Given the description of an element on the screen output the (x, y) to click on. 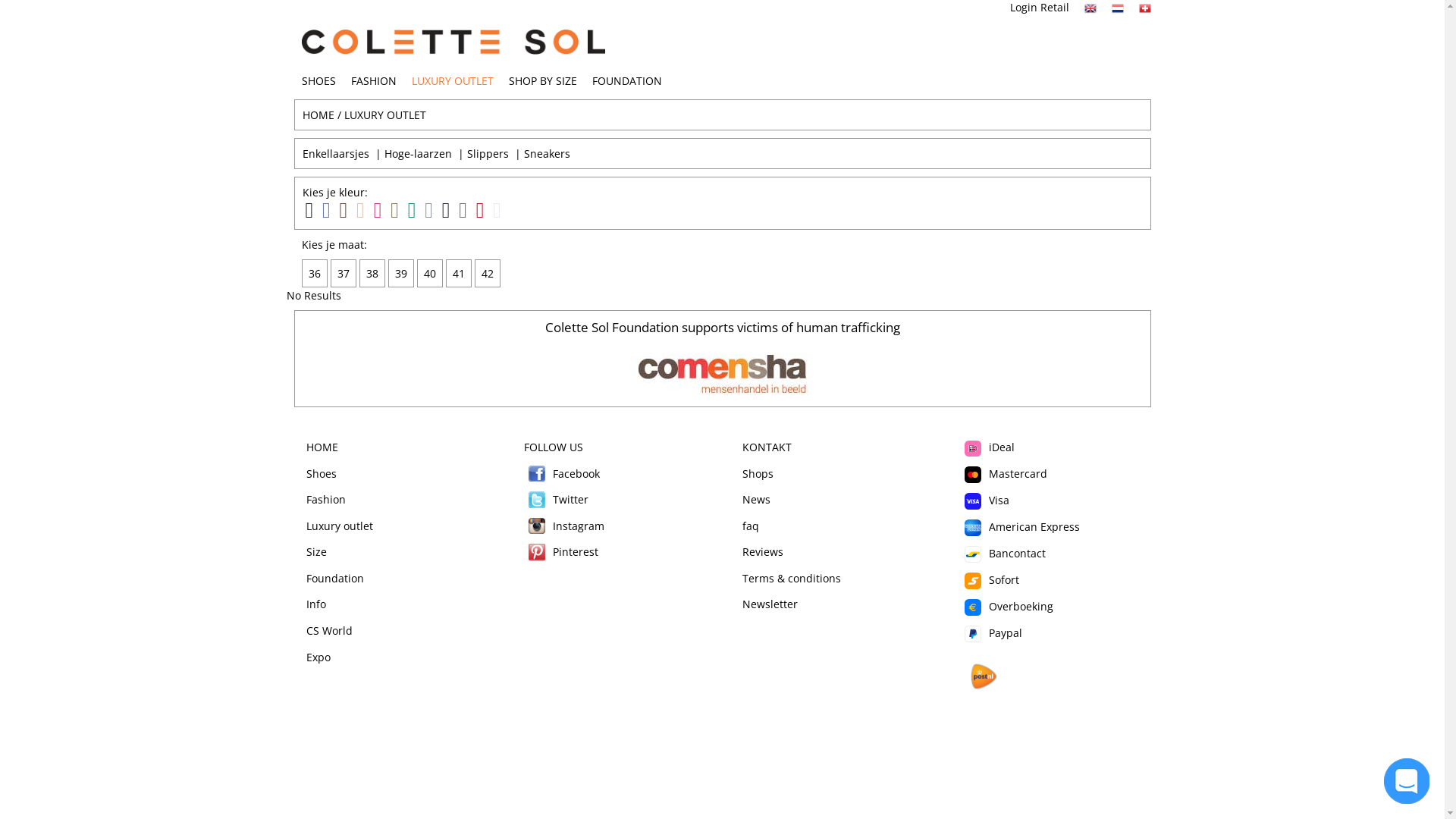
Sneakers Element type: text (546, 153)
Reviews Element type: text (761, 551)
40  Element type: text (431, 273)
Hoge-laarzen Element type: text (417, 153)
faq Element type: text (749, 525)
LUXURY OUTLET Element type: text (385, 114)
Terms & conditions Element type: text (790, 578)
Swiss Element type: hover (1145, 8)
English Element type: hover (1090, 8)
42  Element type: text (488, 273)
 Instagram Element type: text (564, 525)
37  Element type: text (344, 273)
HOME Element type: text (322, 446)
FOUNDATION Element type: text (626, 80)
36  Element type: text (315, 273)
LUXURY OUTLET Element type: text (451, 80)
News Element type: text (755, 499)
Newsletter Element type: text (769, 603)
KONTAKT Element type: text (765, 446)
Luxury outlet Element type: text (339, 525)
Size Element type: text (316, 551)
Facebook Element type: hover (536, 473)
Nederlands Element type: hover (1117, 8)
Shops Element type: text (756, 473)
 Facebook Element type: text (561, 473)
Slippers Element type: text (487, 153)
Login Retail Element type: text (1039, 7)
SHOP BY SIZE Element type: text (542, 80)
FASHION Element type: text (372, 80)
Fashion Element type: text (325, 499)
 Pinterest Element type: text (561, 551)
38  Element type: text (373, 273)
39  Element type: text (402, 273)
Instagram Element type: hover (536, 526)
SHOES Element type: text (318, 80)
Enkellaarsjes Element type: text (334, 153)
Twitter Element type: hover (536, 499)
Foundation Element type: text (335, 578)
Pinterest Element type: hover (536, 551)
41  Element type: text (459, 273)
Info Element type: text (316, 603)
Expo Element type: text (318, 656)
 Twitter Element type: text (556, 499)
CS World Element type: text (329, 630)
Shoes Element type: text (321, 473)
HOME Element type: text (317, 114)
